Given the description of an element on the screen output the (x, y) to click on. 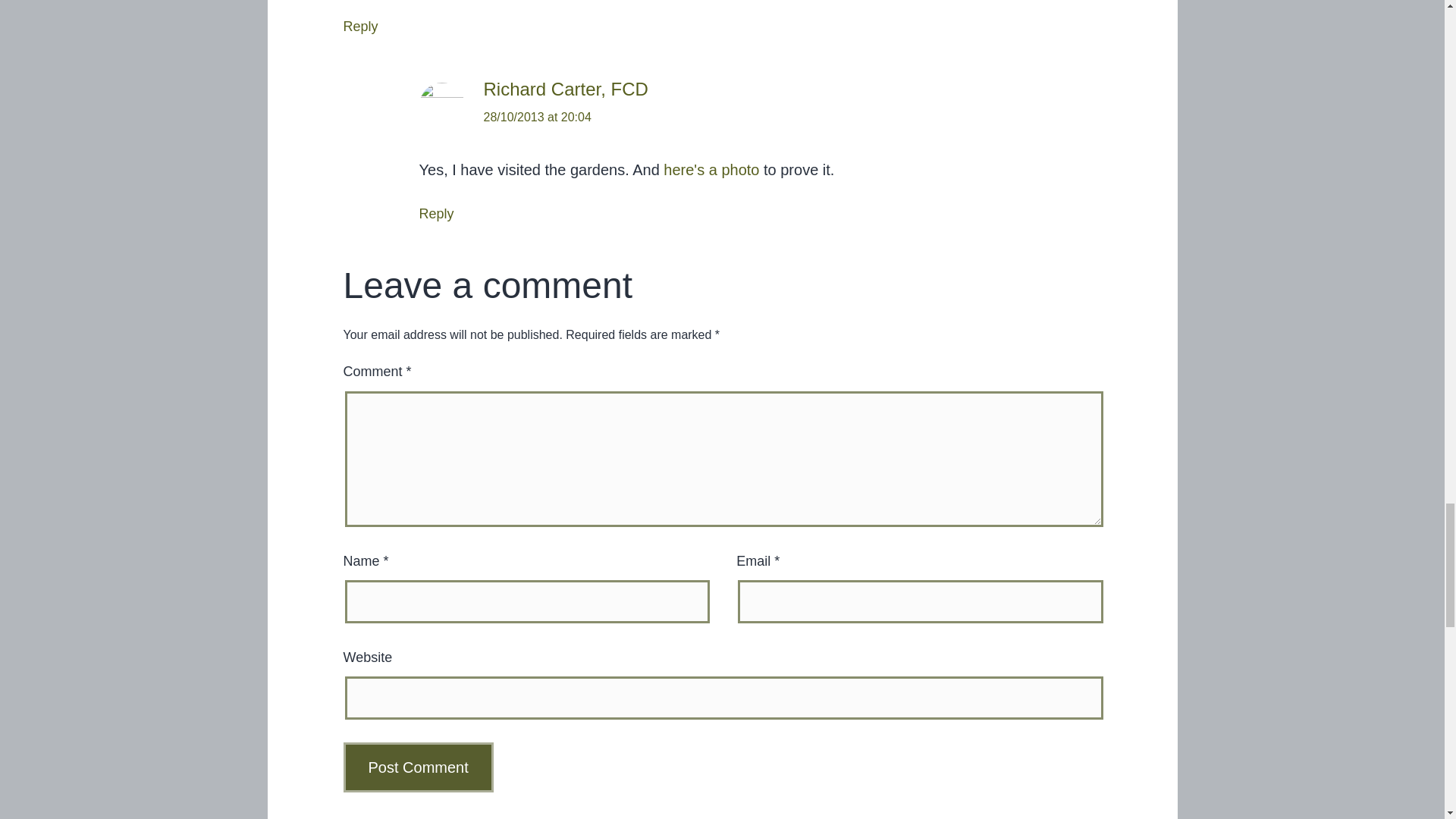
Post Comment (417, 767)
